Given the description of an element on the screen output the (x, y) to click on. 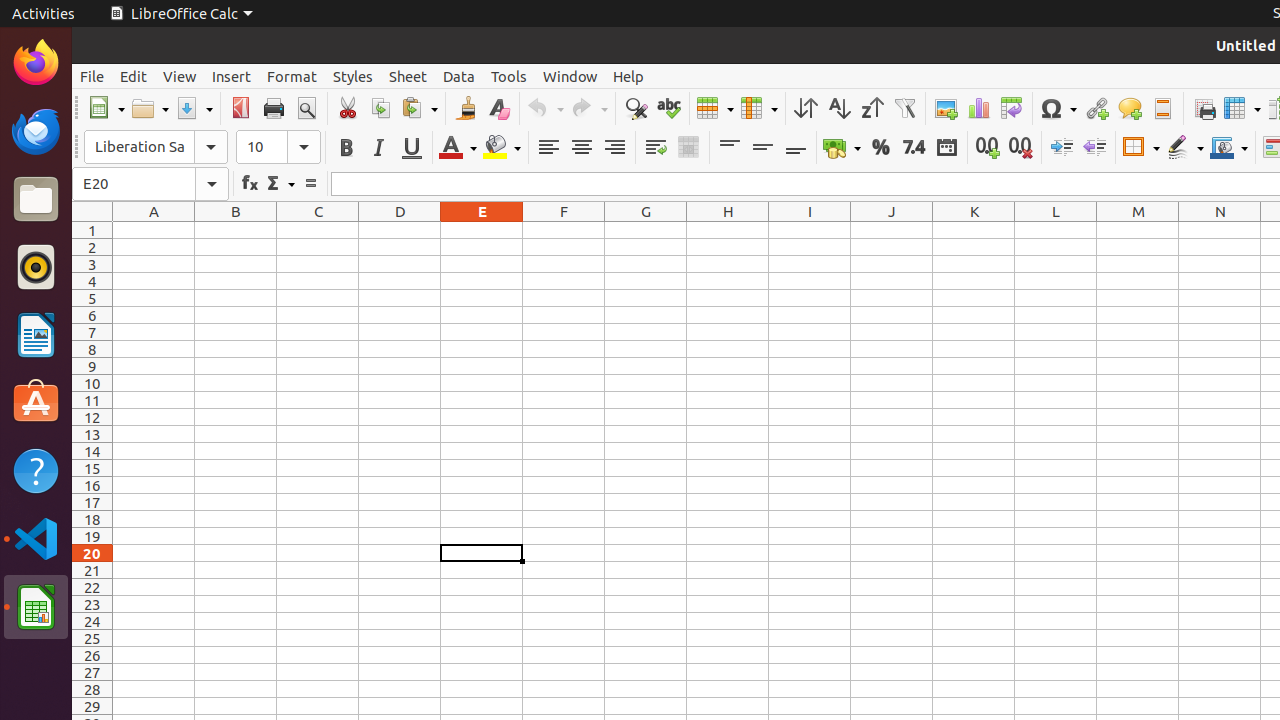
Image Element type: push-button (945, 108)
Open Element type: push-button (150, 108)
D1 Element type: table-cell (400, 230)
Rhythmbox Element type: push-button (36, 267)
Ubuntu Software Element type: push-button (36, 402)
